Given the description of an element on the screen output the (x, y) to click on. 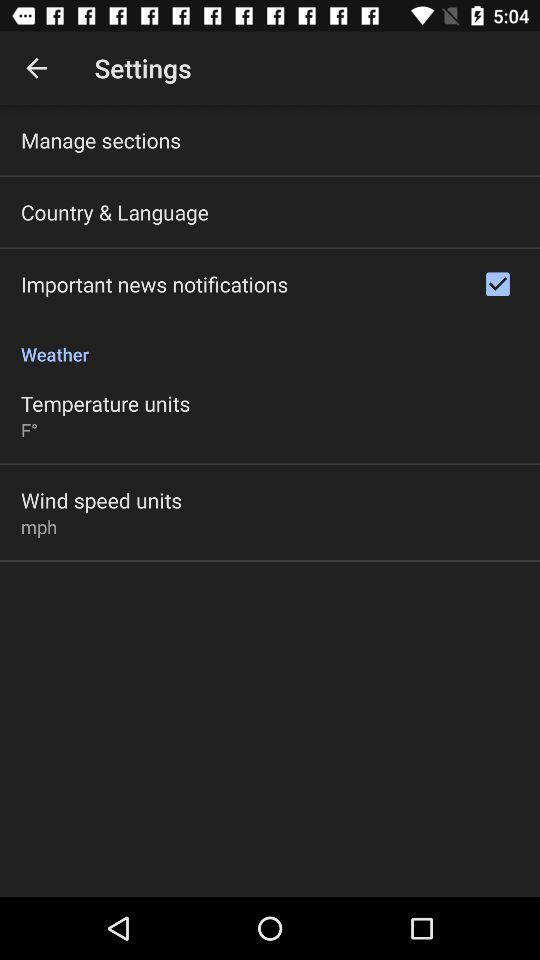
flip until the wind speed units icon (101, 500)
